Given the description of an element on the screen output the (x, y) to click on. 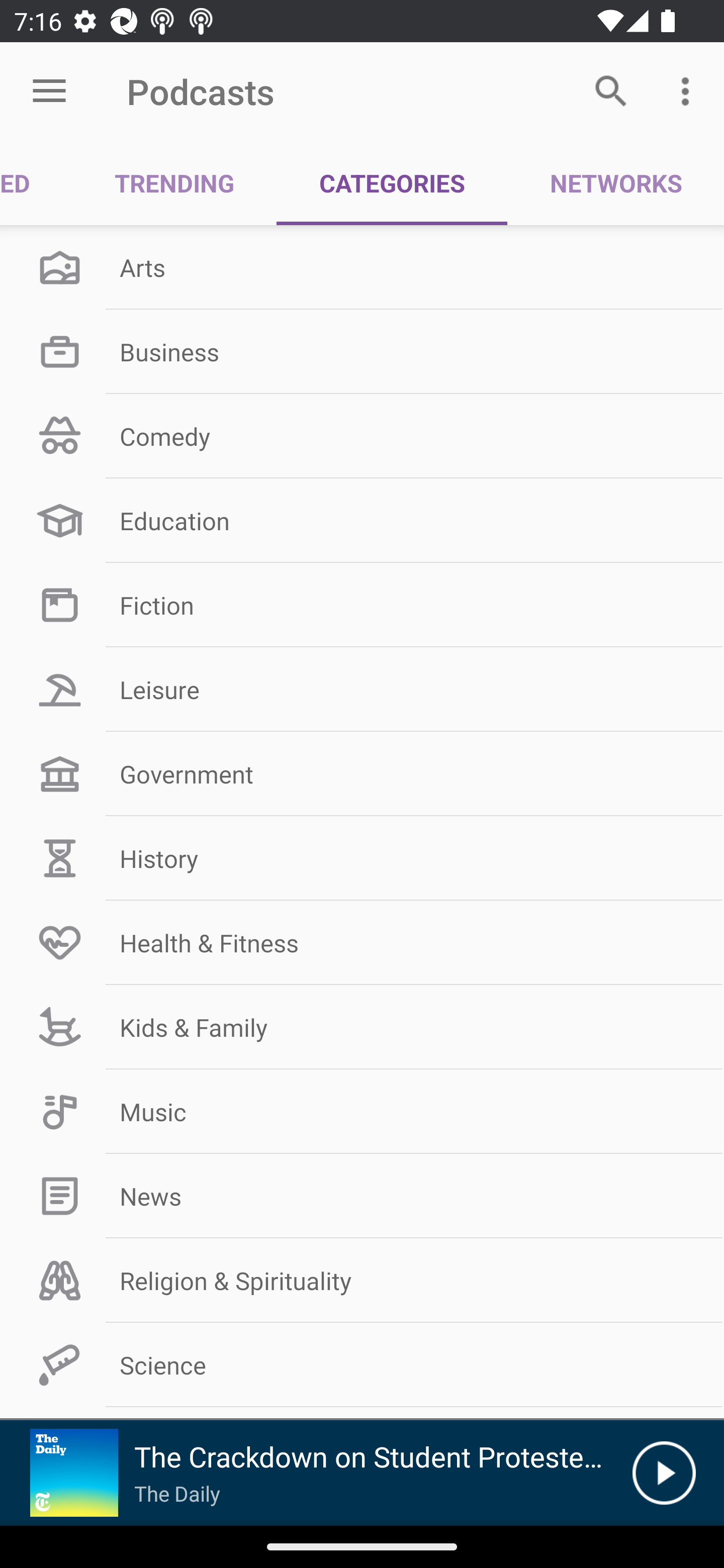
Open menu (49, 91)
Search (611, 90)
More options (688, 90)
TRENDING (174, 183)
CATEGORIES (391, 183)
NETWORKS (615, 183)
Arts (362, 266)
Business (362, 350)
Comedy (362, 435)
Education (362, 520)
Fiction (362, 604)
Leisure (362, 689)
Government (362, 774)
History (362, 858)
Health & Fitness (362, 942)
Kids & Family (362, 1026)
Music (362, 1111)
News (362, 1196)
Religion & Spirituality (362, 1280)
Science (362, 1364)
Play (663, 1472)
